Given the description of an element on the screen output the (x, y) to click on. 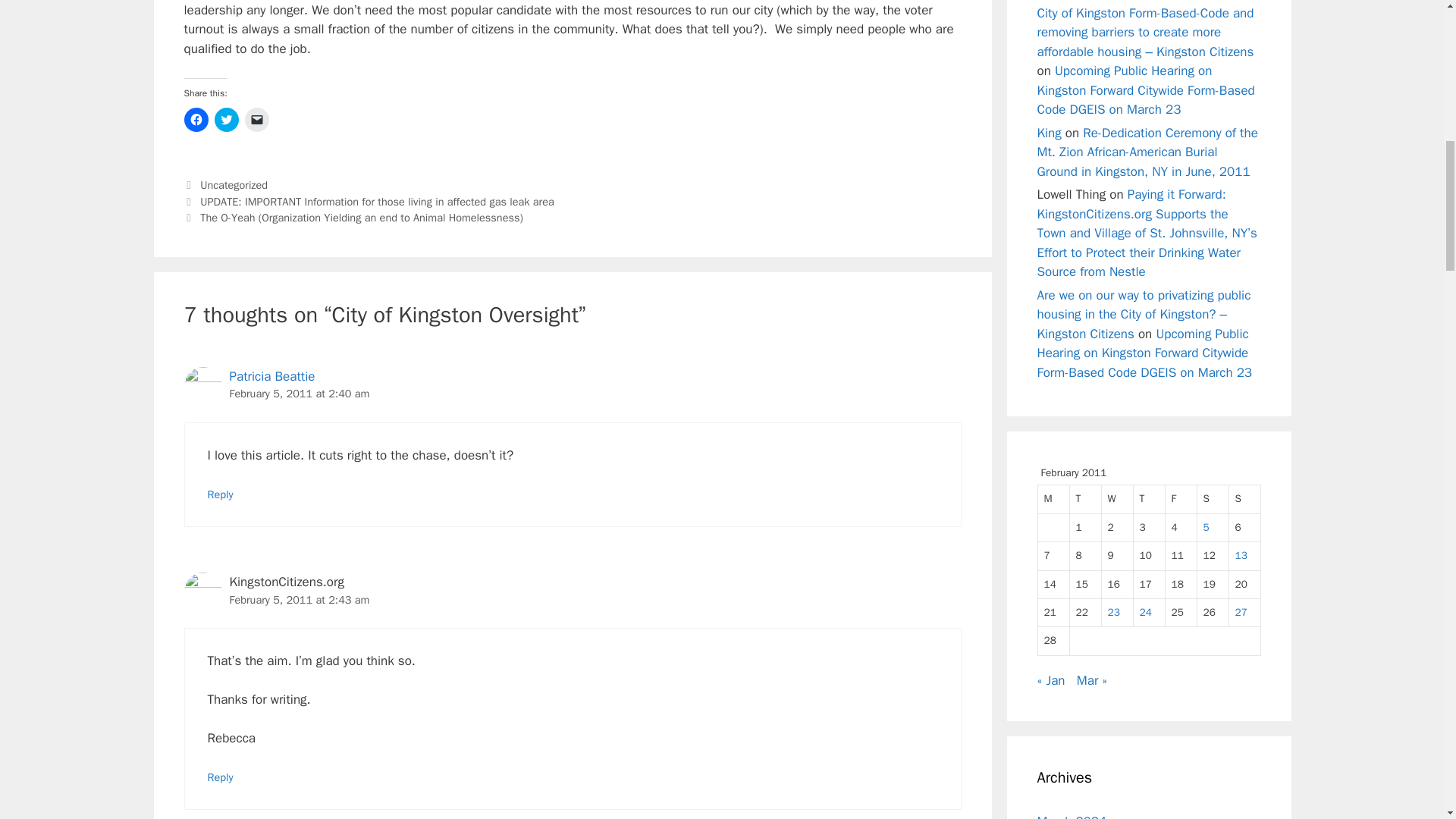
Click to share on Facebook (195, 119)
Tuesday (1084, 499)
Click to email a link to a friend (255, 119)
Thursday (1148, 499)
Saturday (1212, 499)
Friday (1180, 499)
Sunday (1244, 499)
Monday (1052, 499)
Click to share on Twitter (226, 119)
Wednesday (1116, 499)
